Given the description of an element on the screen output the (x, y) to click on. 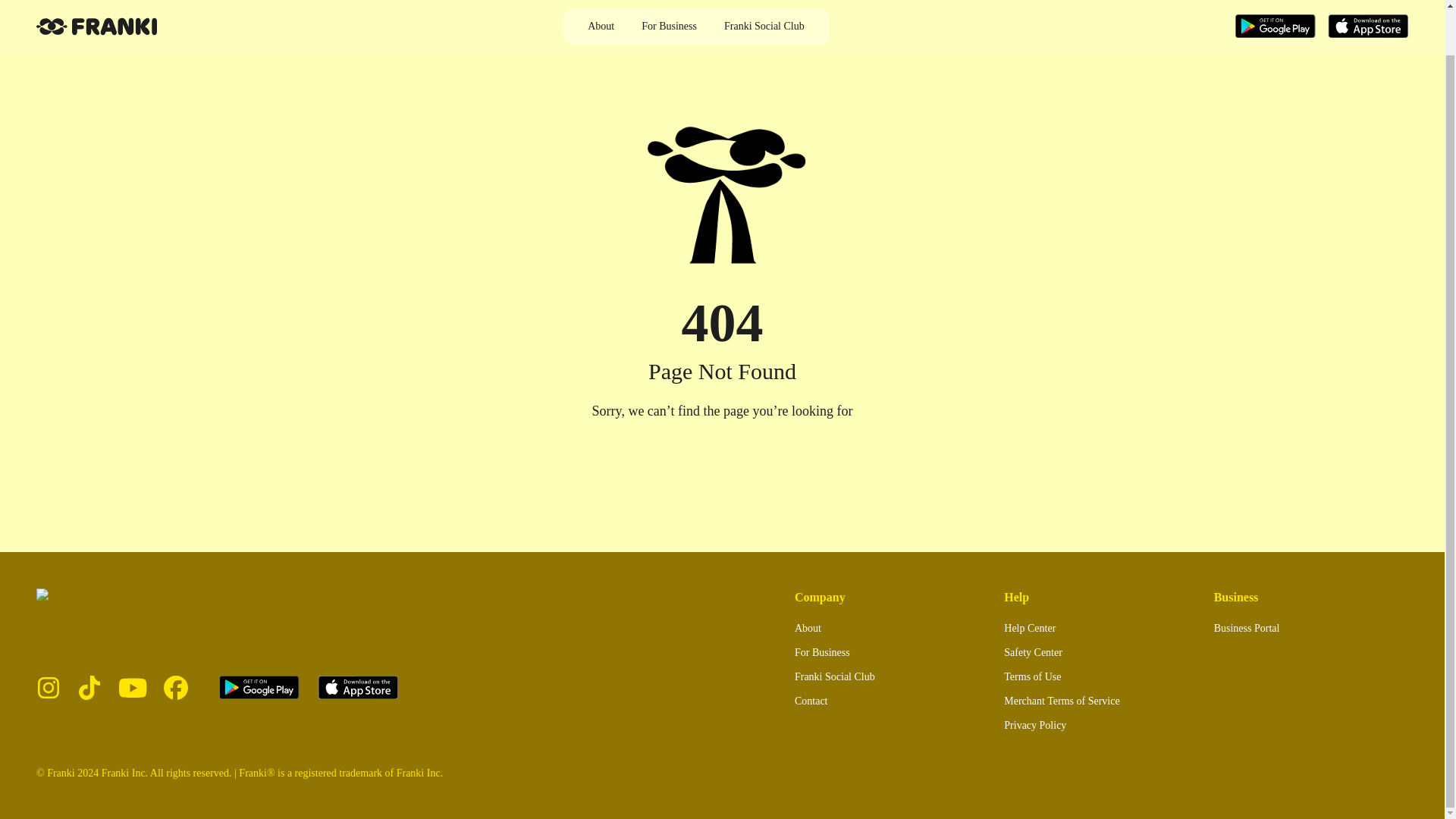
Terms of Use (1032, 676)
Merchant Terms of Service (1061, 701)
For Business (822, 652)
404 (721, 322)
Contact (811, 701)
Safety Center (1033, 652)
Franki Social Club (834, 676)
About (807, 628)
Business Portal (1246, 628)
Privacy Policy (1034, 725)
Help Center (1029, 628)
